Given the description of an element on the screen output the (x, y) to click on. 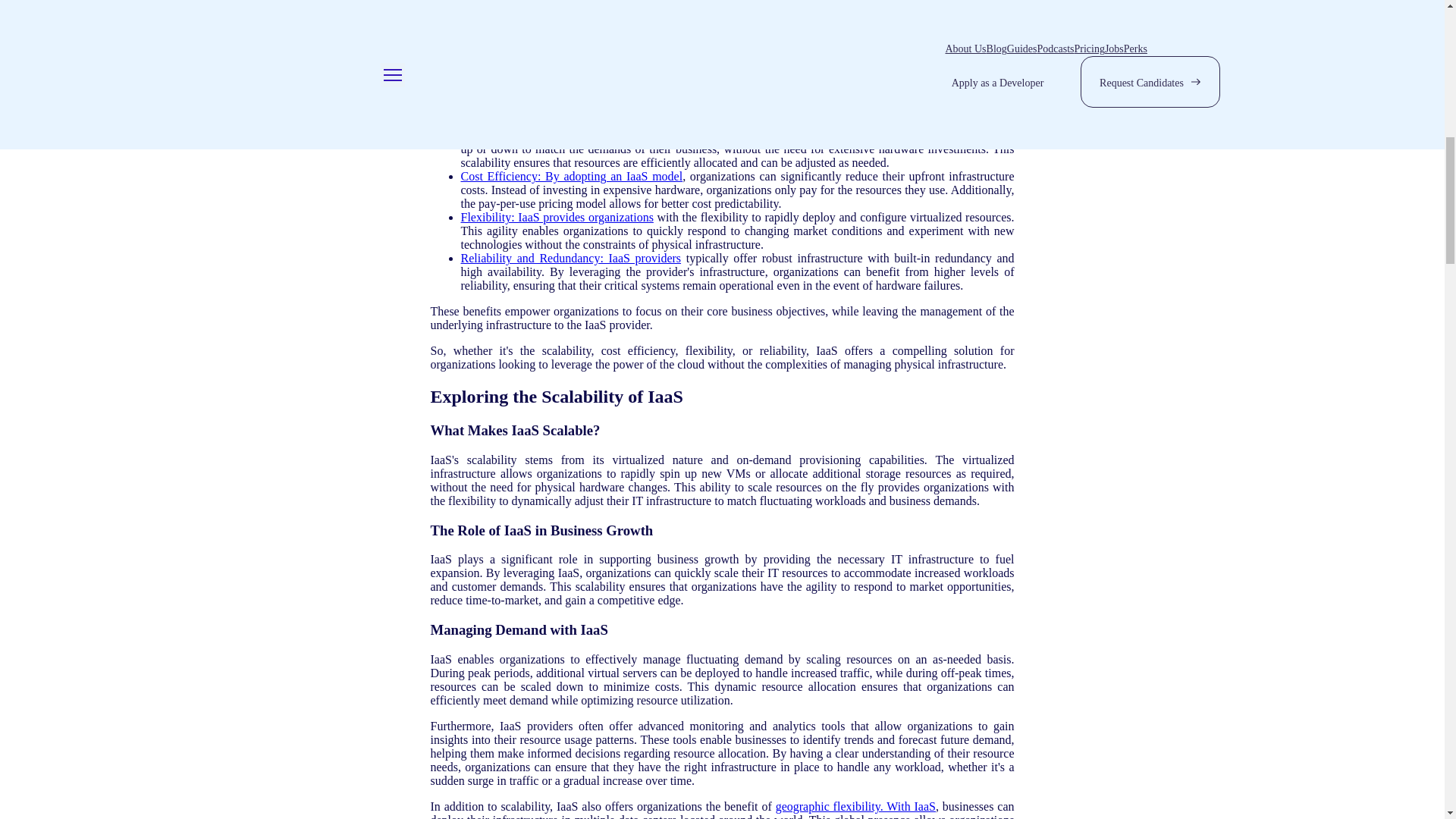
geographic flexibility. With IaaS (856, 806)
flexible and scalable infrastructure (842, 37)
Scalability: One of the key advantages of IaaS (575, 134)
Flexibility: IaaS provides organizations (557, 216)
Reliability and Redundancy: IaaS providers (571, 257)
Cost Efficiency: By adopting an IaaS model (571, 175)
